Given the description of an element on the screen output the (x, y) to click on. 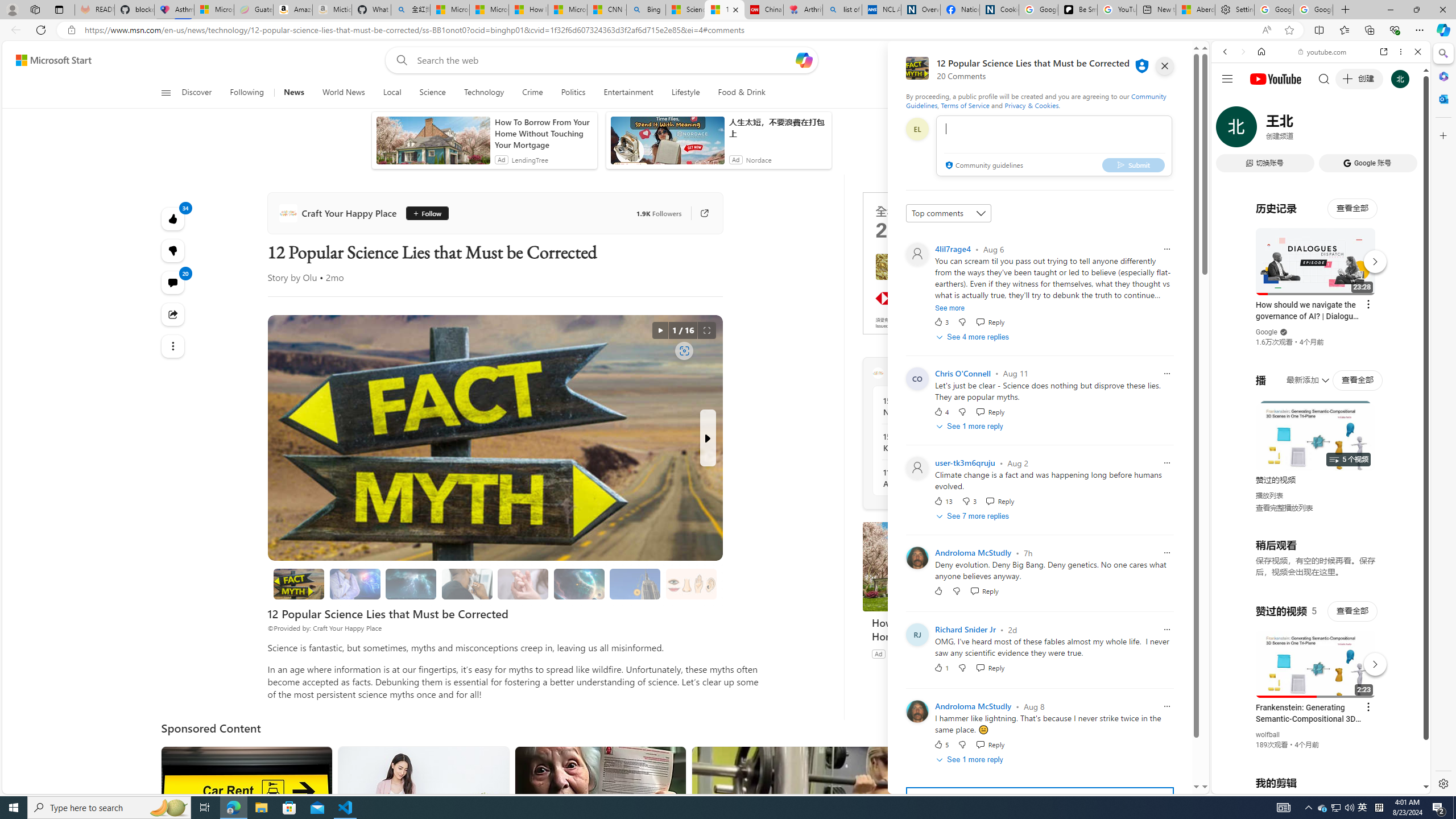
Class: dict_pnIcon rms_img (1312, 784)
12 Popular Science Lies that Must be Corrected (298, 583)
Follow (422, 213)
Class: b_serphb (1404, 130)
Enter your search term (603, 59)
Submit (1133, 164)
Human Senses (691, 583)
How I Got Rid of Microsoft Edge's Unnecessary Features (528, 9)
Like (937, 590)
5 Like (940, 744)
